Given the description of an element on the screen output the (x, y) to click on. 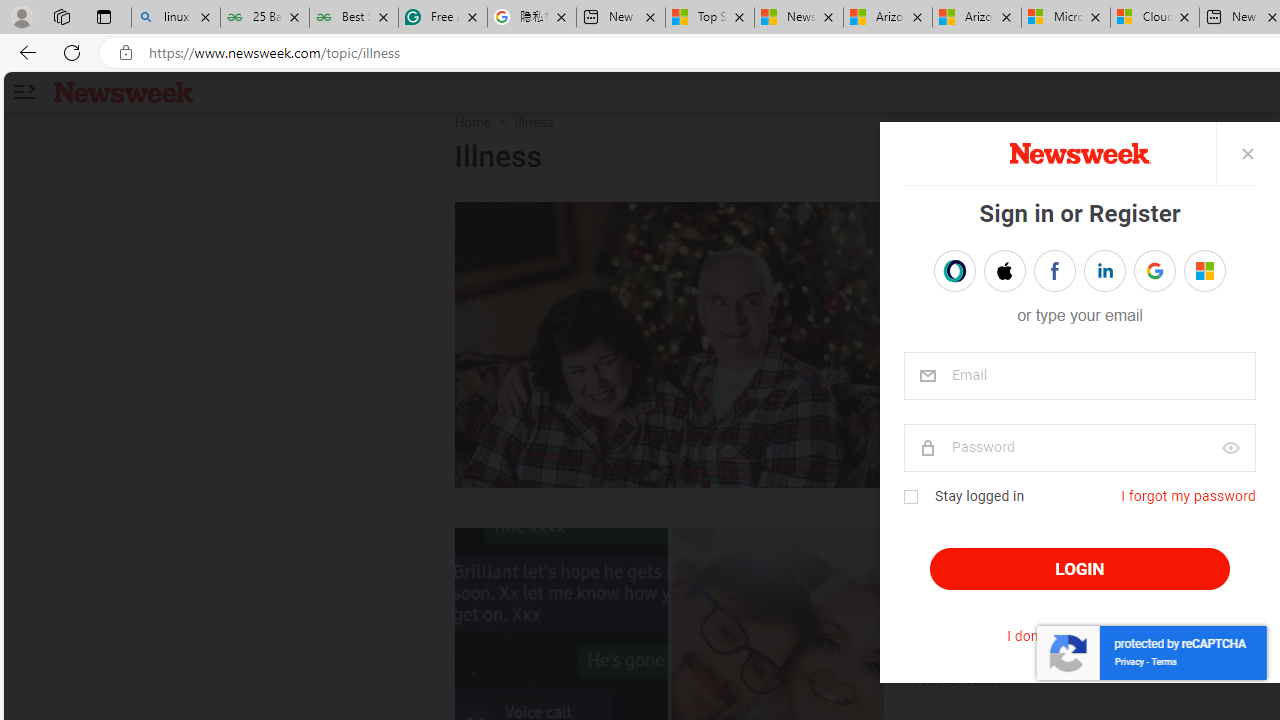
I don't have an account (1079, 636)
email (1078, 376)
Top Stories - MSN (709, 17)
News - MSN (799, 17)
Sign in as Eugene EugeneLedger601@outlook.com (1204, 270)
Sign in with OPENPASS (954, 270)
Best SSL Certificates Provider in India - GeeksforGeeks (353, 17)
MY TURN (963, 222)
Class: checkbox (909, 497)
Free AI Writing Assistance for Students | Grammarly (443, 17)
Newsweek logo (123, 91)
Microsoft (1204, 270)
